Given the description of an element on the screen output the (x, y) to click on. 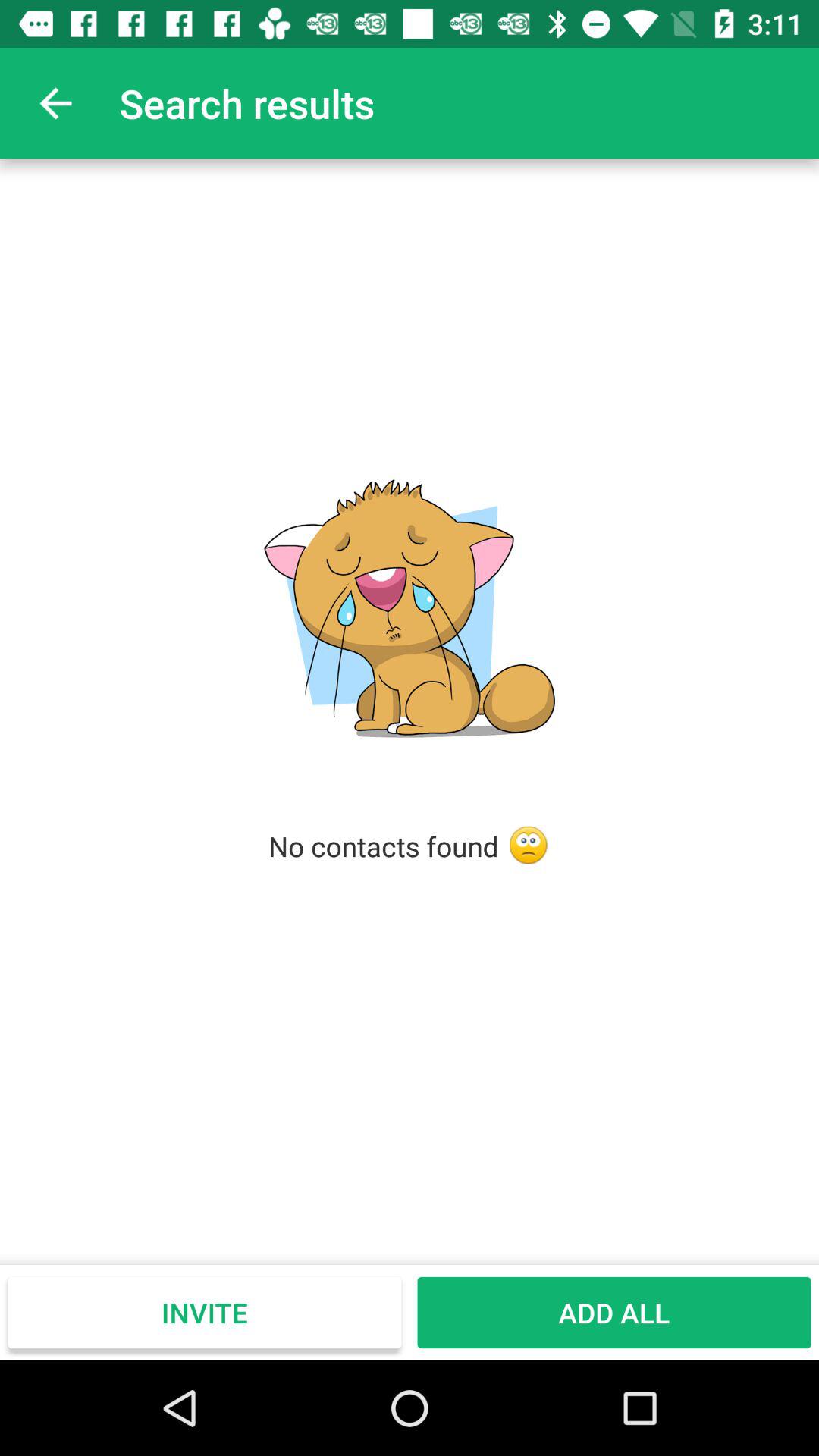
launch icon next to search results item (55, 103)
